Given the description of an element on the screen output the (x, y) to click on. 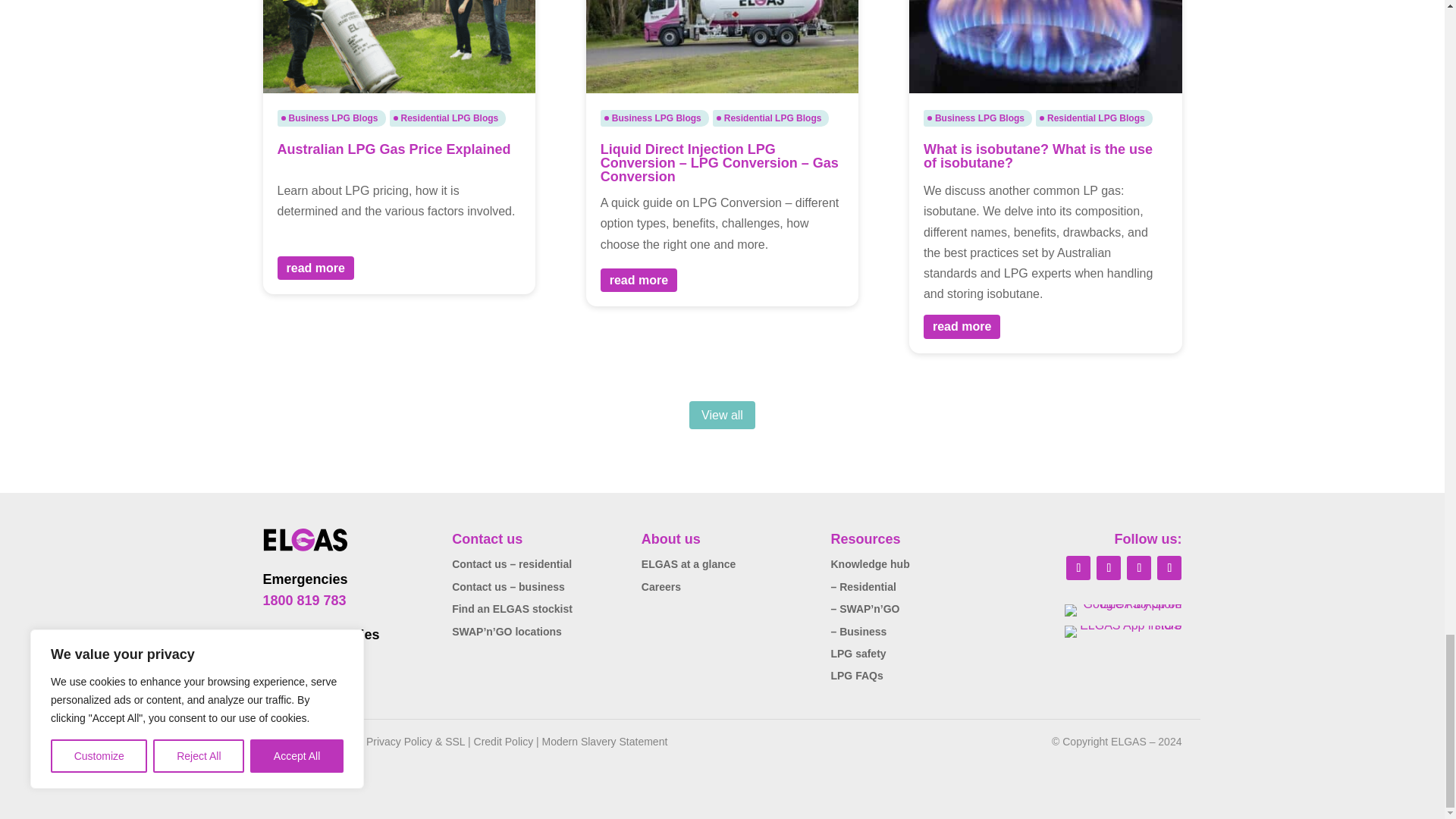
appstore (1122, 631)
elgas-logo (304, 540)
ELGAS App on Google Play Store (1122, 610)
Follow on Youtube (1168, 567)
Follow on Facebook (1077, 567)
Follow on LinkedIn (1108, 567)
Follow on Instagram (1138, 567)
